Given the description of an element on the screen output the (x, y) to click on. 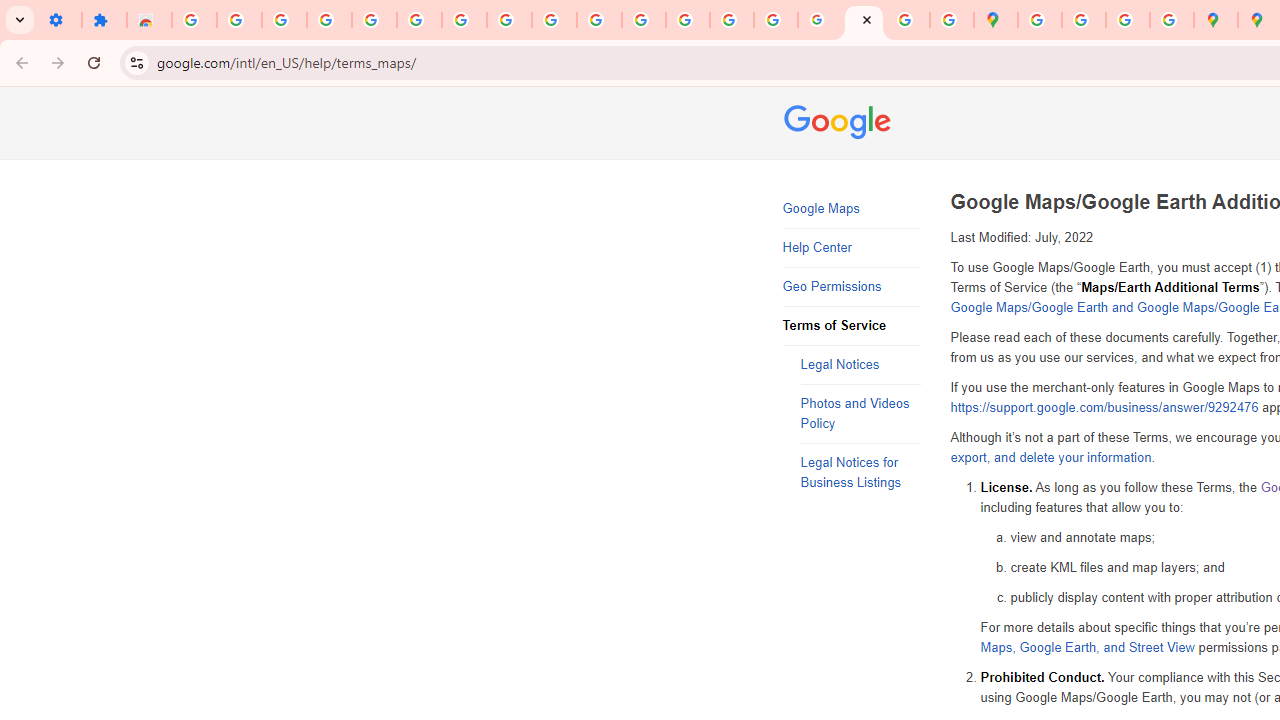
Safety in Our Products - Google Safety Center (1171, 20)
Help Center (851, 247)
Reviews: Helix Fruit Jump Arcade Game (148, 20)
Geo Permissions (851, 286)
Learn how to find your photos - Google Photos Help (329, 20)
Legal Notices (860, 365)
Delete photos & videos - Computer - Google Photos Help (284, 20)
